Given the description of an element on the screen output the (x, y) to click on. 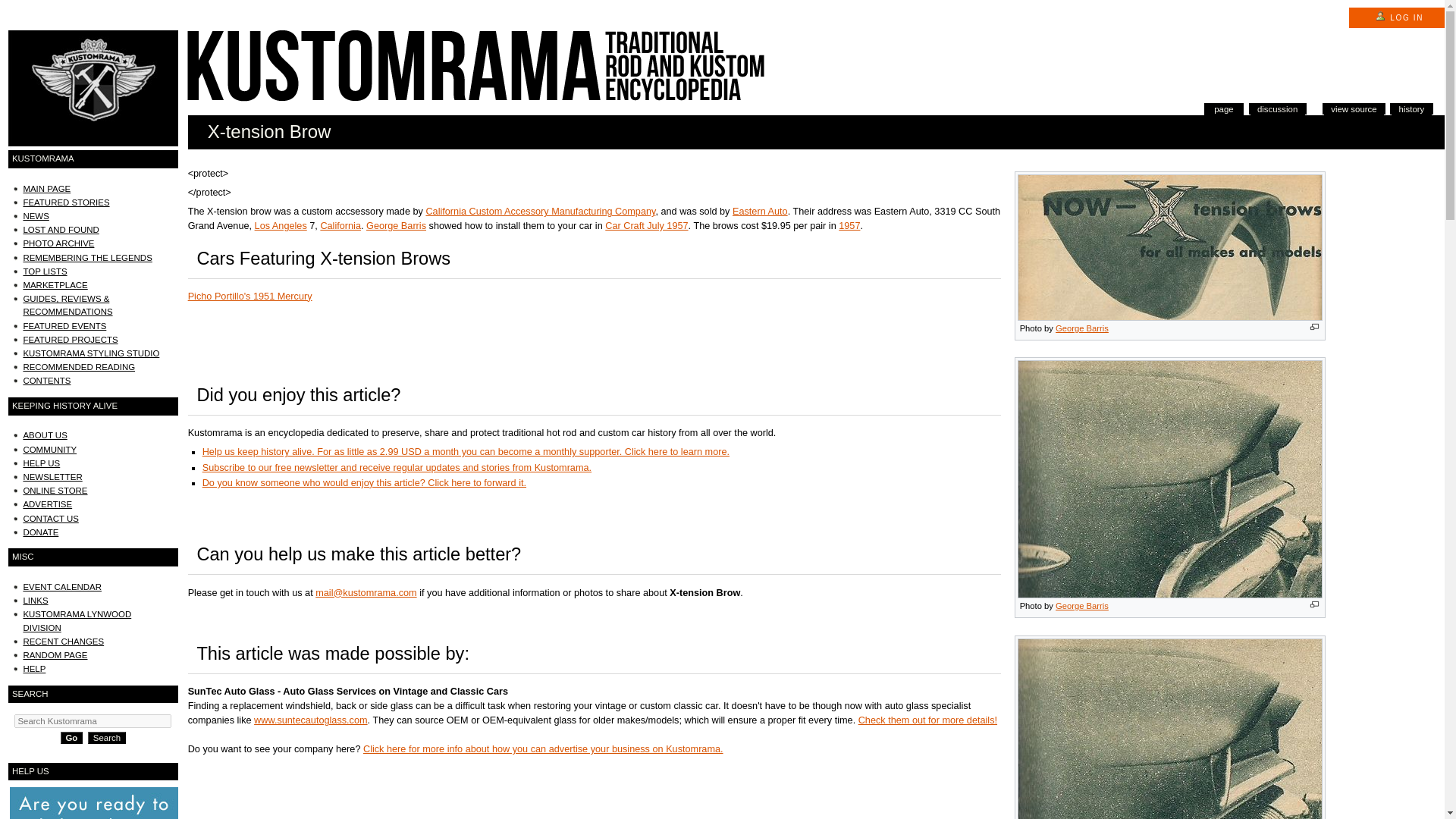
George Barris (396, 225)
Los Angeles (280, 225)
California (340, 225)
Go (71, 737)
Eastern Auto (759, 211)
view source (1353, 110)
Enlarge (1314, 604)
Search (106, 737)
Search (106, 737)
George Barris (1081, 327)
George Barris (1081, 605)
California Custom Accessory Manufacturing Company (540, 211)
Picho Portillo's 1951 Mercury (250, 296)
